Given the description of an element on the screen output the (x, y) to click on. 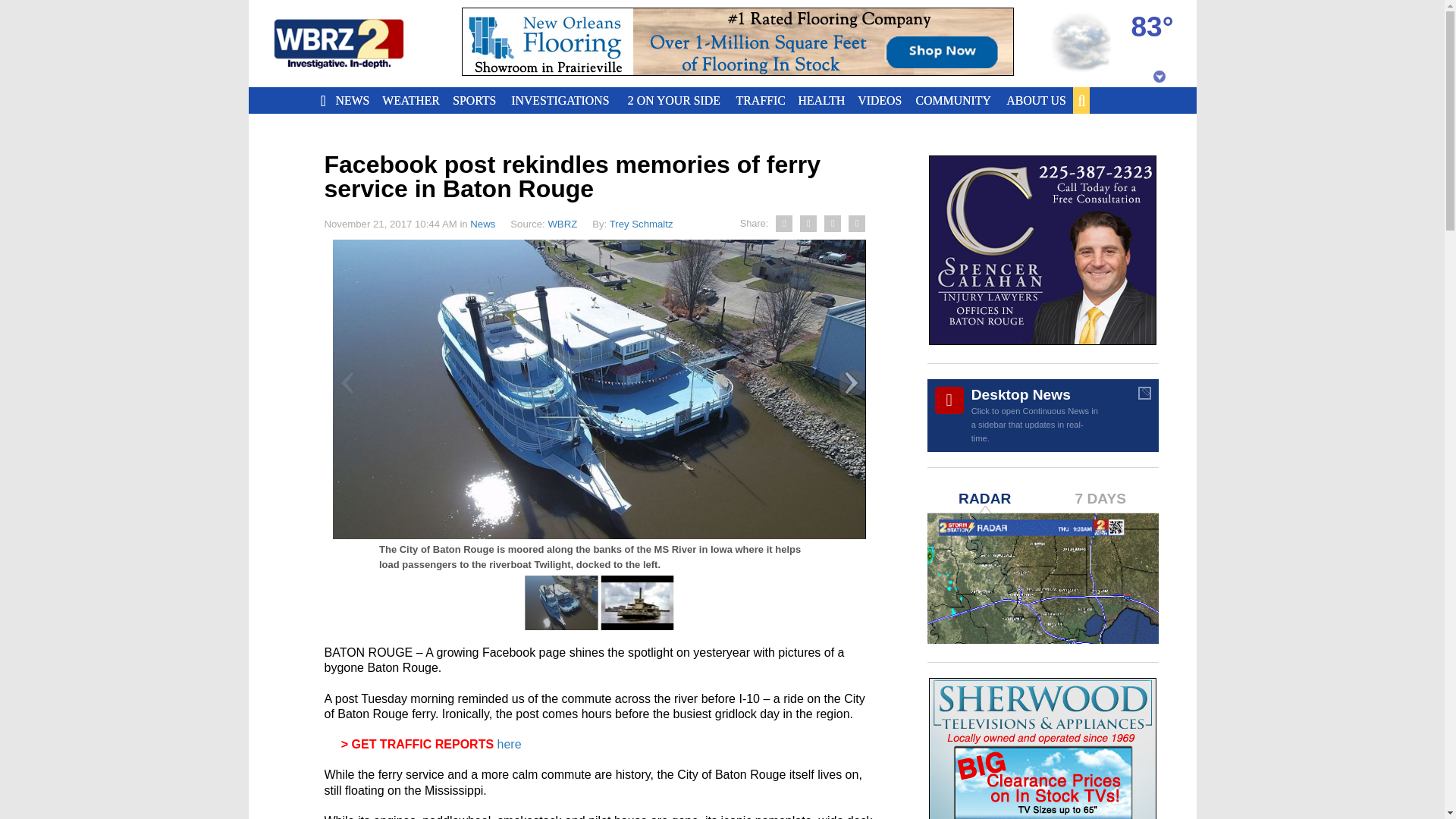
Home (357, 43)
